Given the description of an element on the screen output the (x, y) to click on. 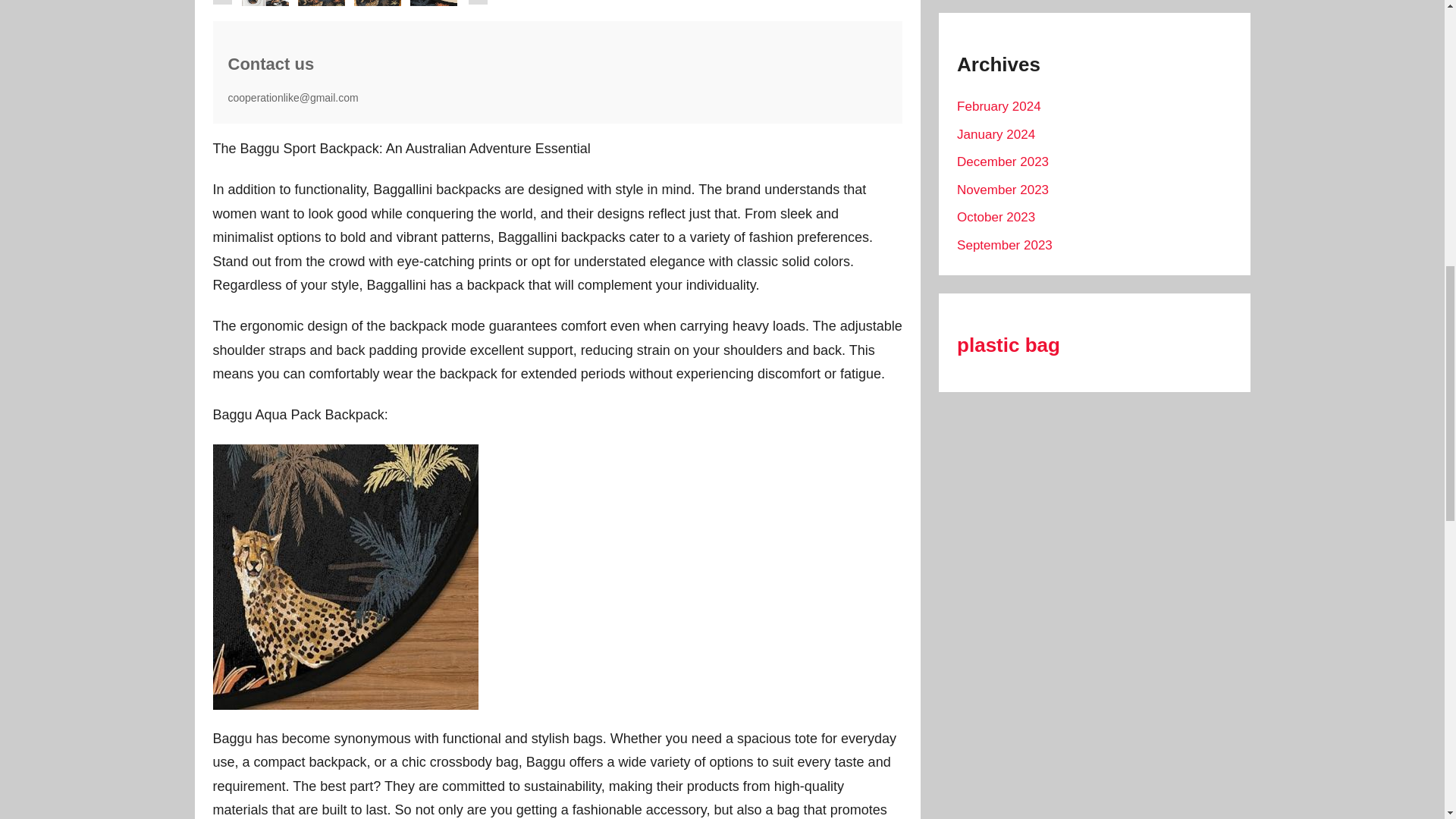
October 2023 (995, 216)
November 2023 (1002, 189)
plastic bag (1007, 344)
February 2024 (998, 106)
December 2023 (1002, 161)
January 2024 (995, 134)
September 2023 (1004, 245)
